Given the description of an element on the screen output the (x, y) to click on. 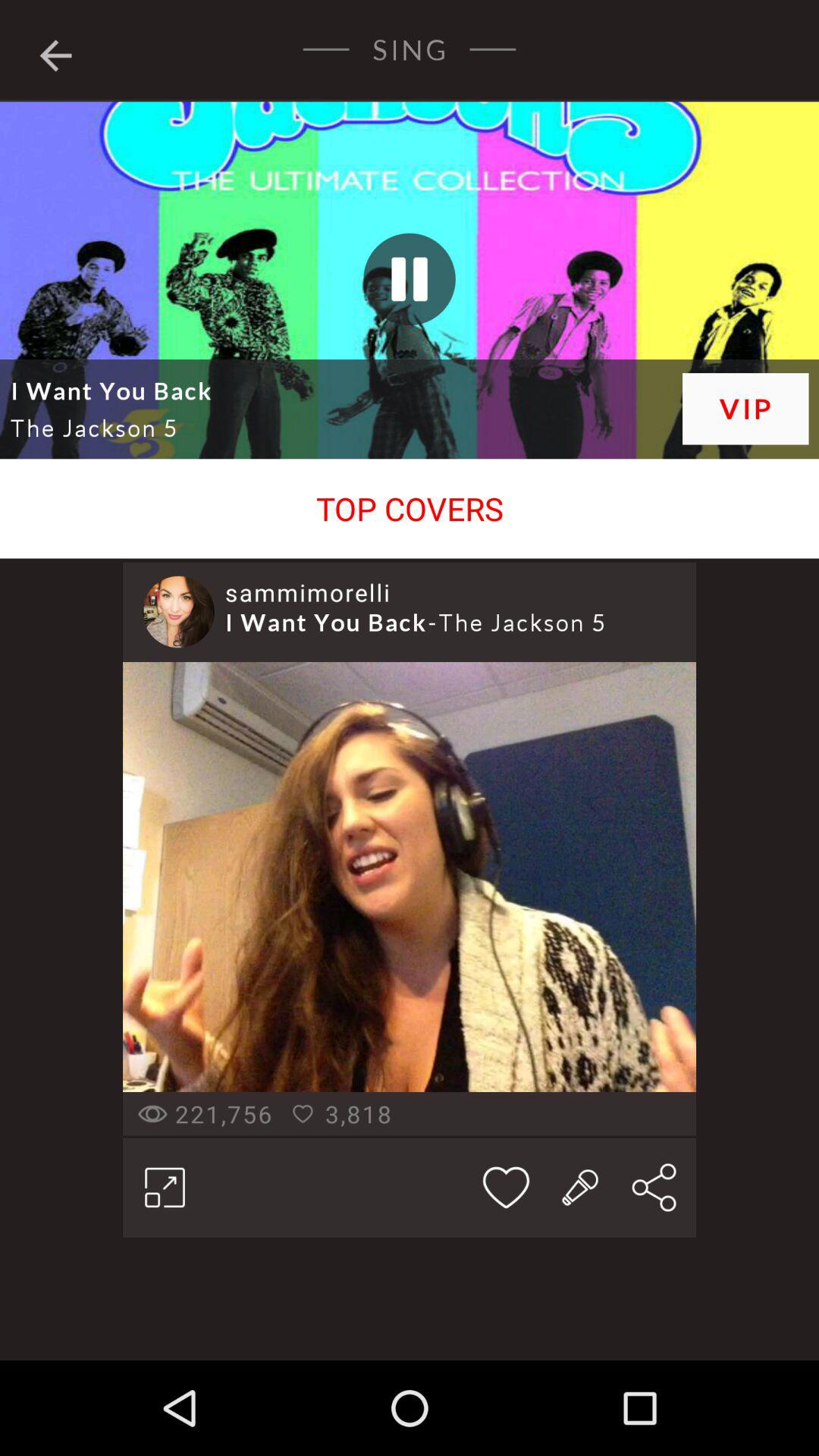
launch item to the right of the i want you icon (745, 408)
